Given the description of an element on the screen output the (x, y) to click on. 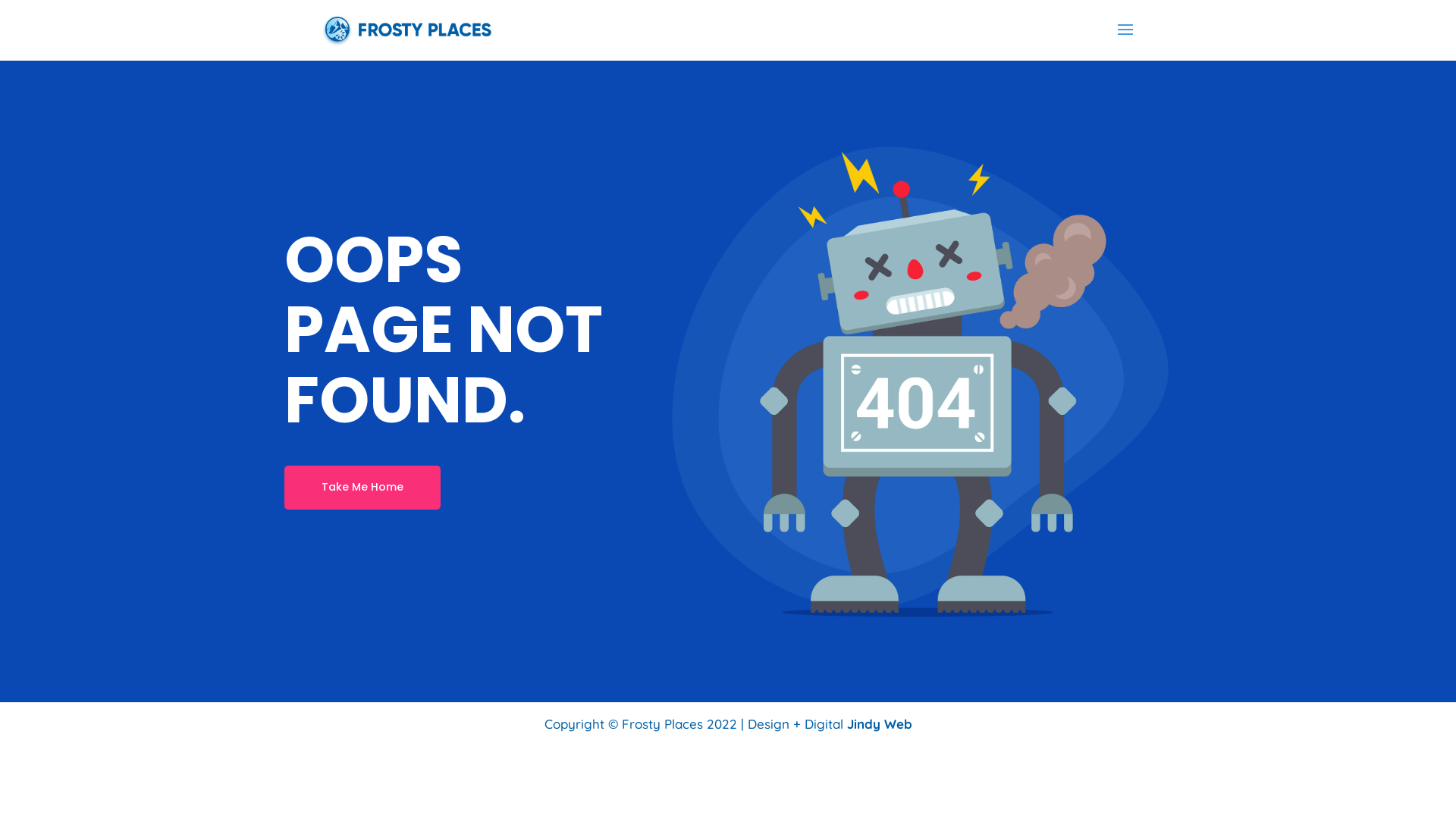
Jindy Web Element type: text (878, 723)
Take Me Home Element type: text (362, 487)
